Given the description of an element on the screen output the (x, y) to click on. 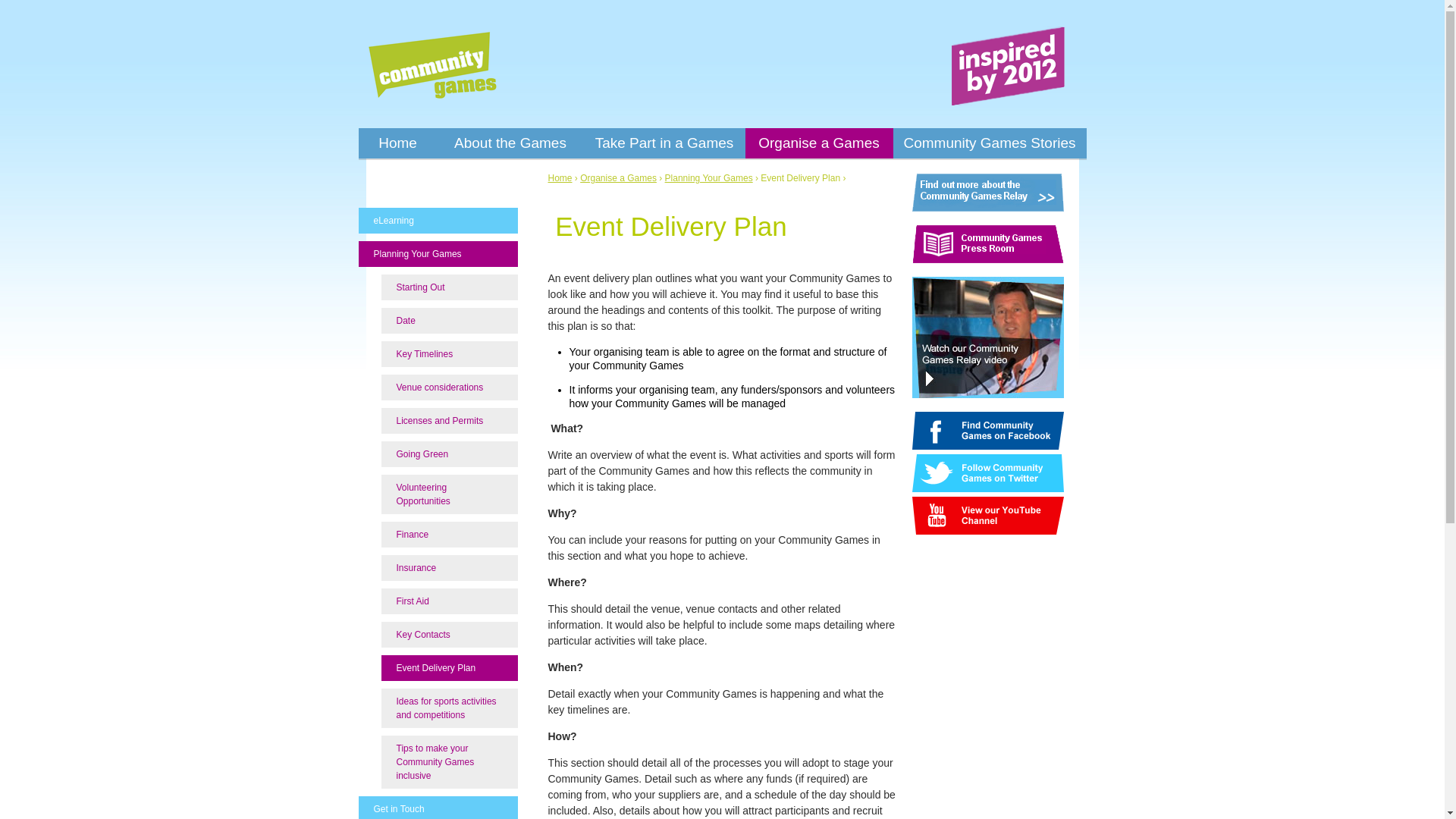
Organise a Games (818, 142)
Organise a Games (818, 142)
Take Part in a Games (664, 142)
Home (431, 65)
Planning Your Games (708, 177)
About the Games (509, 142)
Home (397, 142)
Inspired by London 2012 (1007, 65)
About the Games (509, 142)
Take Part in a Games (664, 142)
